Given the description of an element on the screen output the (x, y) to click on. 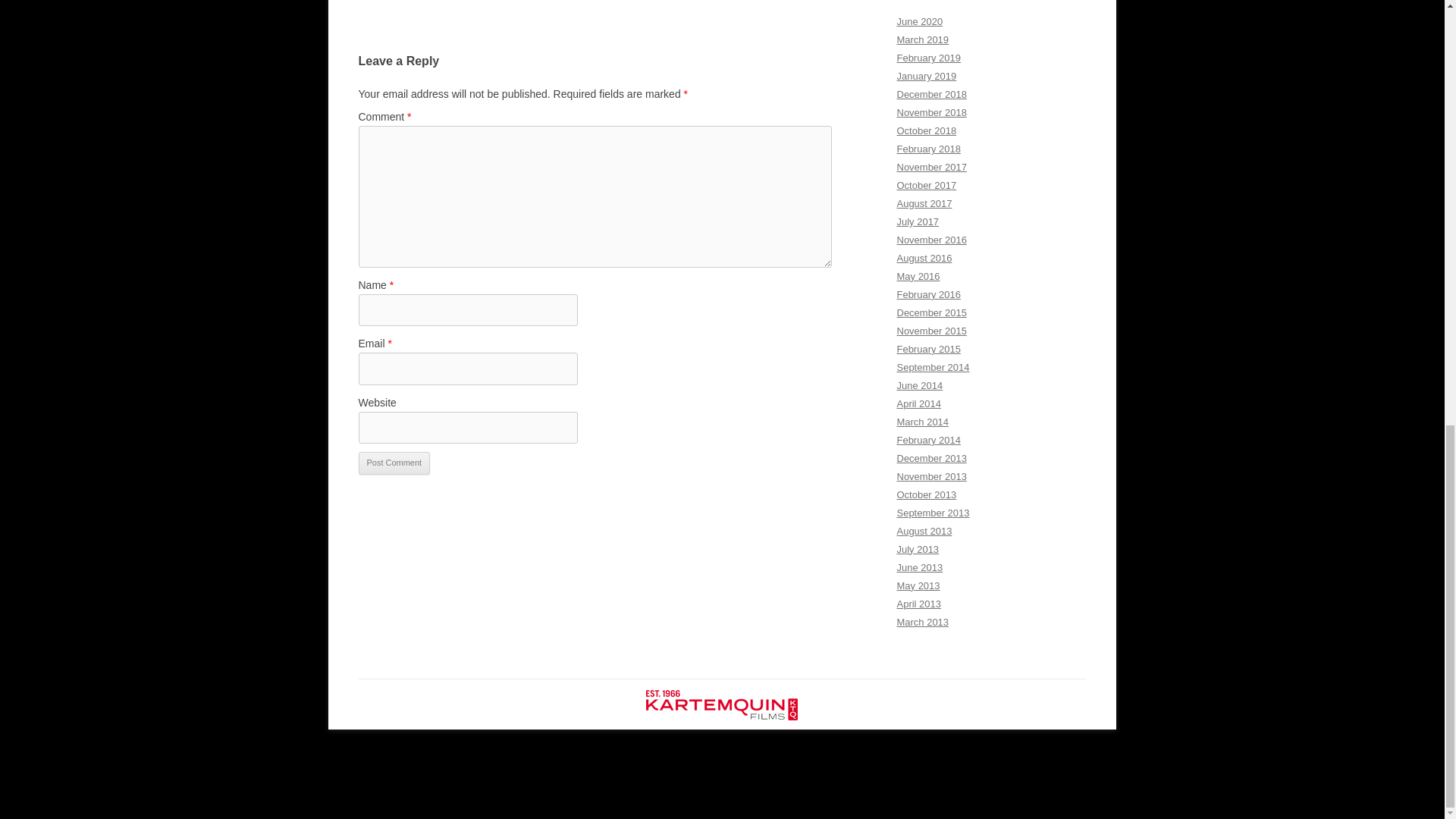
March 2019 (922, 39)
Post Comment (393, 463)
November 2016 (931, 239)
October 2017 (926, 184)
July 2017 (917, 221)
November 2018 (931, 112)
December 2015 (931, 312)
August 2016 (924, 257)
October 2018 (926, 130)
December 2018 (931, 93)
February 2018 (927, 148)
June 2020 (919, 21)
August 2017 (924, 203)
February 2016 (927, 294)
January 2019 (926, 75)
